Given the description of an element on the screen output the (x, y) to click on. 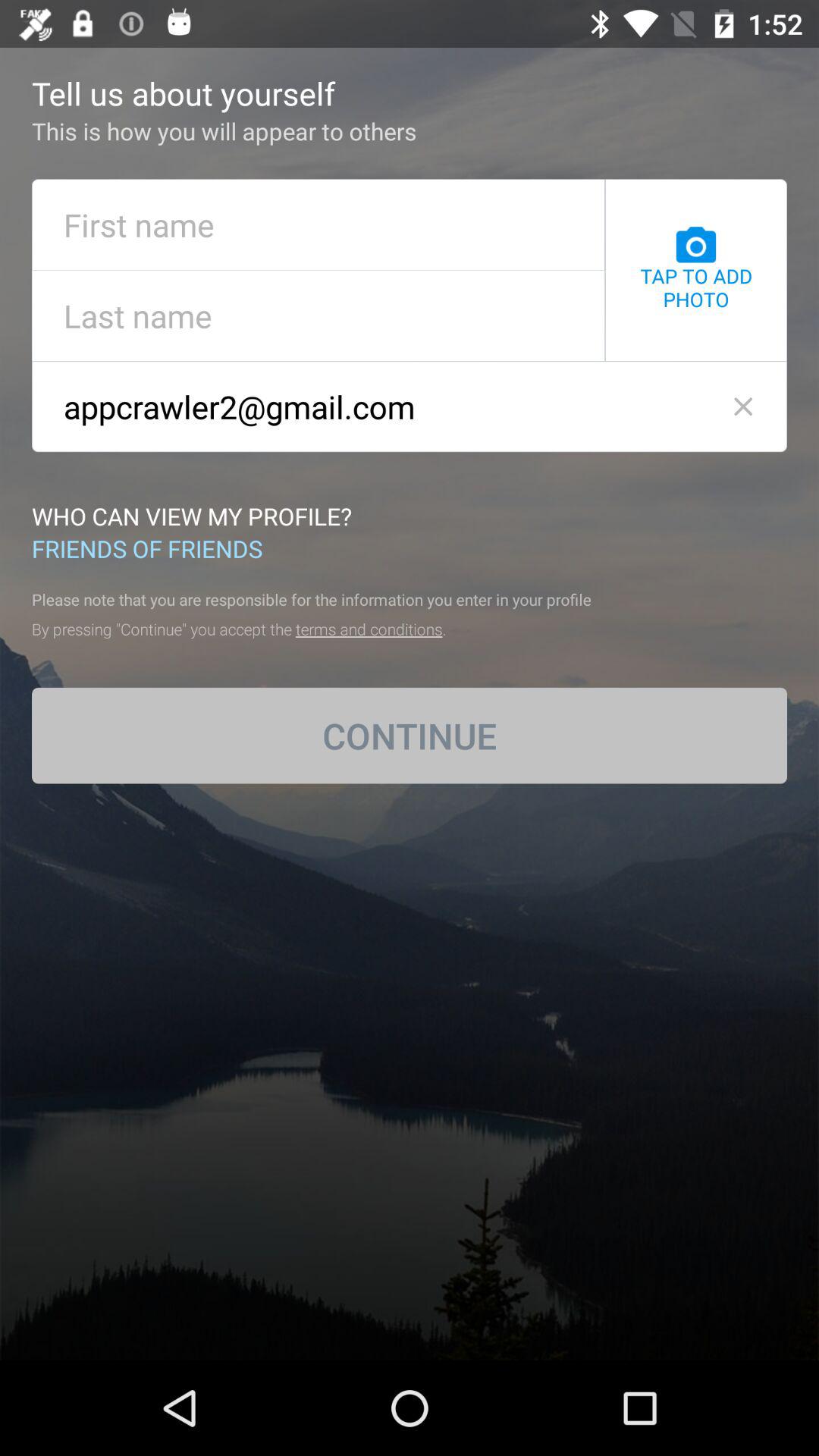
click on camera (695, 245)
